Given the description of an element on the screen output the (x, y) to click on. 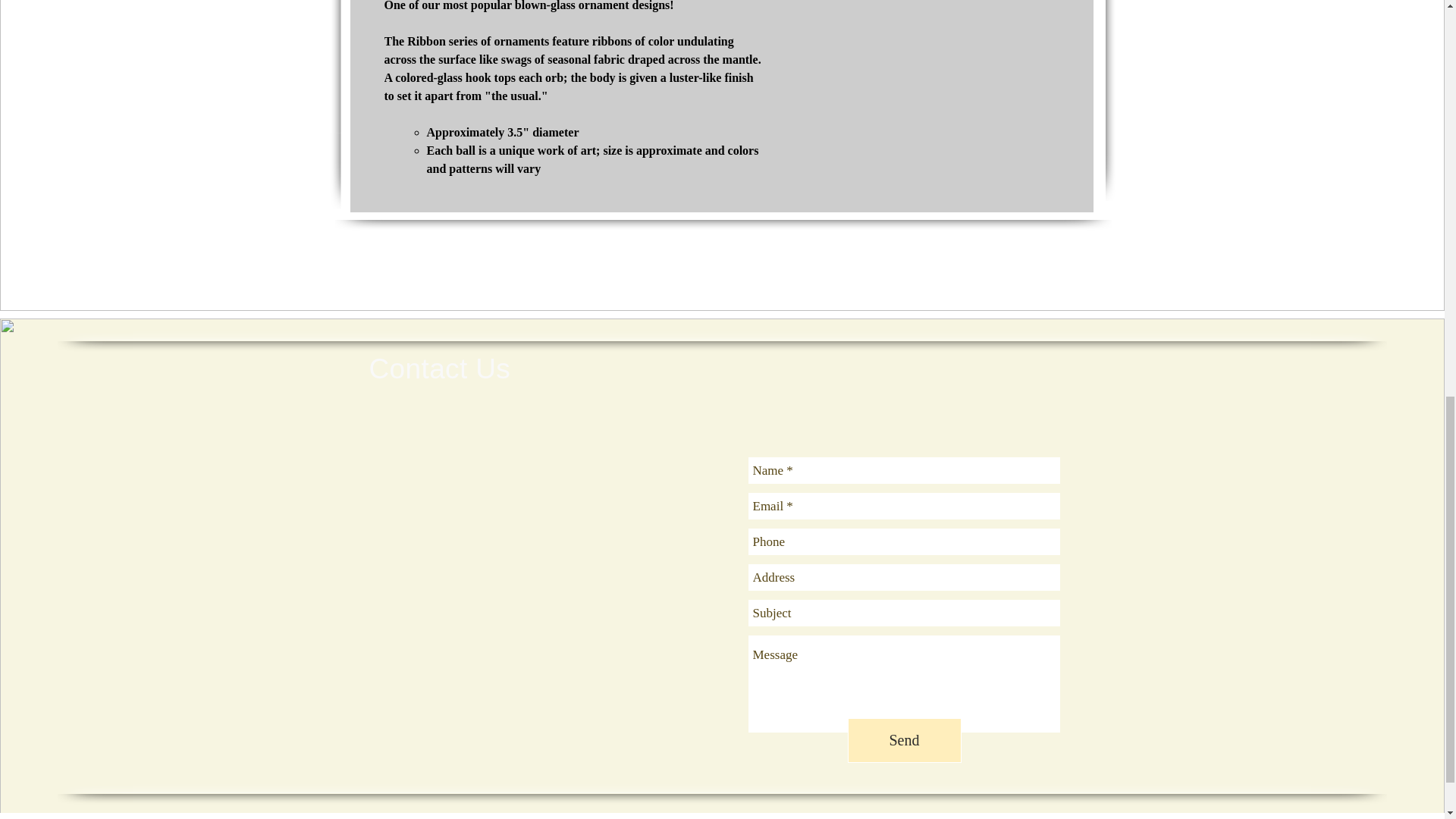
Send (903, 740)
